Given the description of an element on the screen output the (x, y) to click on. 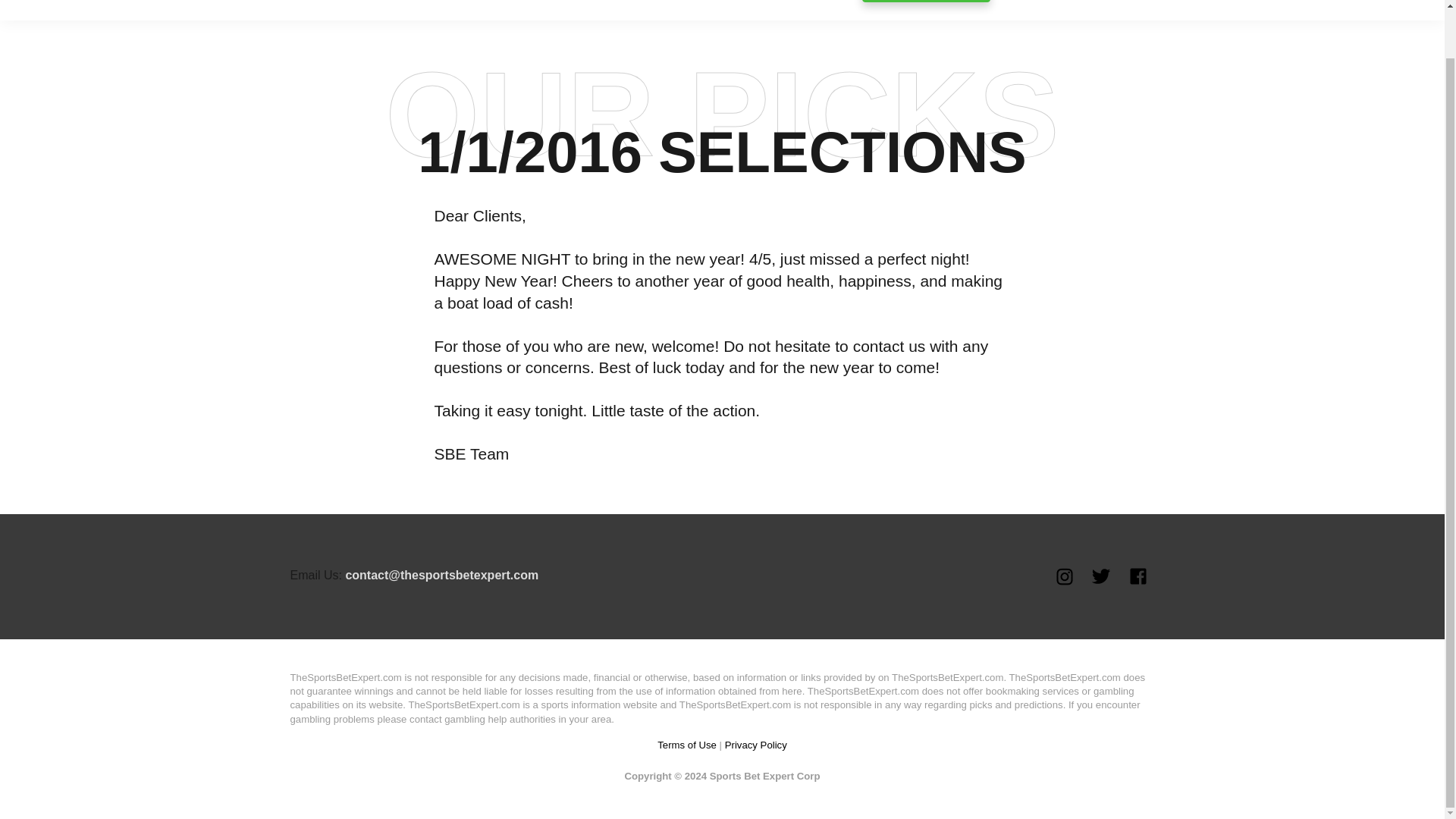
SUBSCRIPTIONS (925, 1)
APPAREL SHOP (1055, 1)
LOGIN (1381, 1)
MY CART (1308, 1)
FAQ (1140, 1)
Terms of Use (687, 745)
Privacy Policy (756, 745)
CONTACT US (1217, 1)
